Given the description of an element on the screen output the (x, y) to click on. 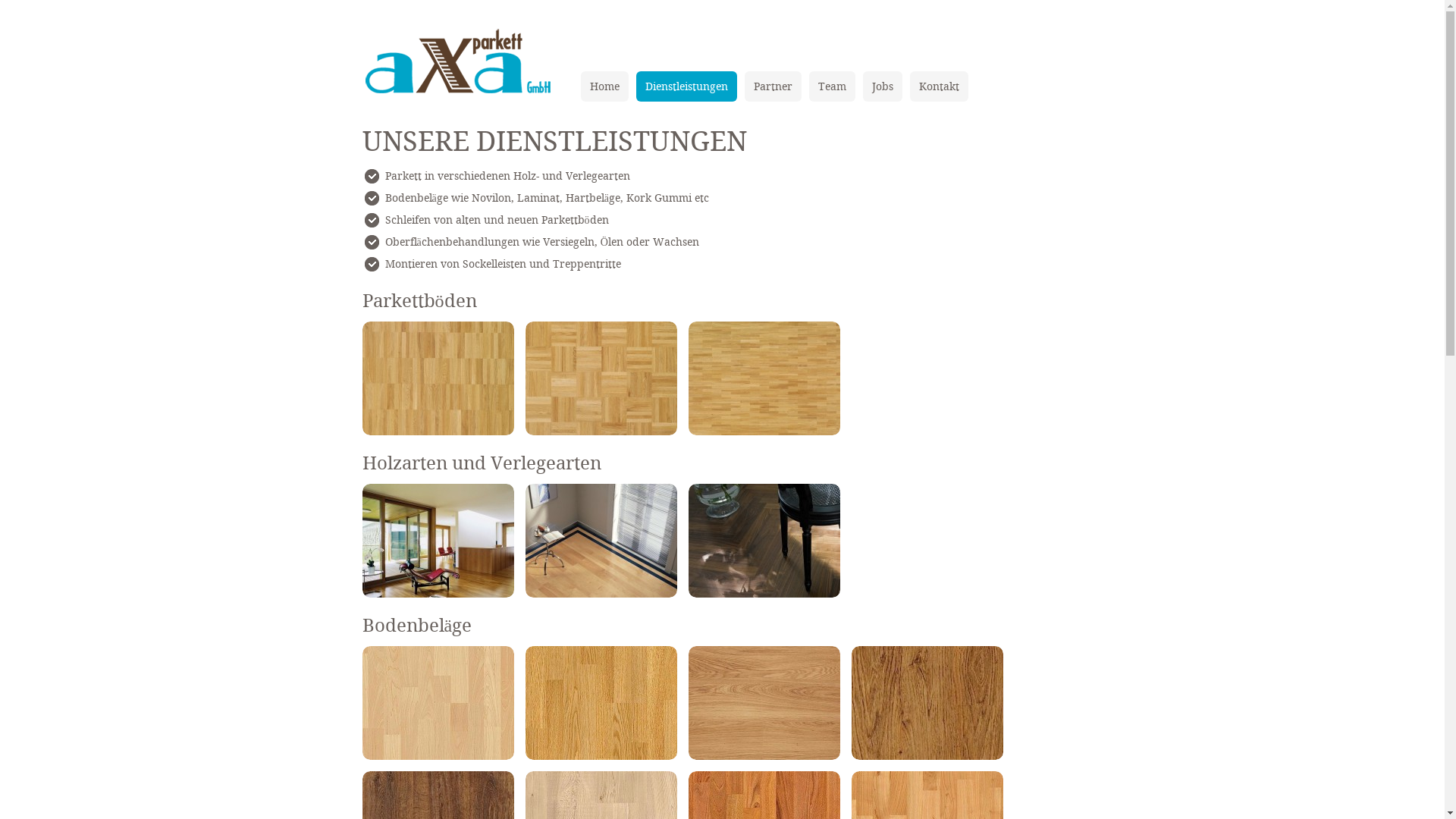
Team Element type: text (831, 86)
Jobs Element type: text (882, 86)
parkettboeden1 Element type: hover (600, 378)
Partner Element type: text (772, 86)
parkettboeden2 Element type: hover (764, 378)
Laminatboden Eiche 462 3-Stab Element type: hover (600, 702)
Kontakt Element type: text (939, 86)
verlegearten2 Element type: hover (600, 540)
verlegearten1 Element type: hover (438, 540)
Dienstleistungen Element type: text (685, 86)
parketboeden Element type: hover (438, 378)
Home Element type: text (604, 86)
Laminatboden Ahorn 202 3-Stab Element type: hover (438, 702)
verlegearten3 Element type: hover (764, 540)
Laminatboden Eiche antik 6065 1-Stab Element type: hover (926, 702)
Laminatboden Eiche 6064 1-Stab Element type: hover (764, 702)
